Given the description of an element on the screen output the (x, y) to click on. 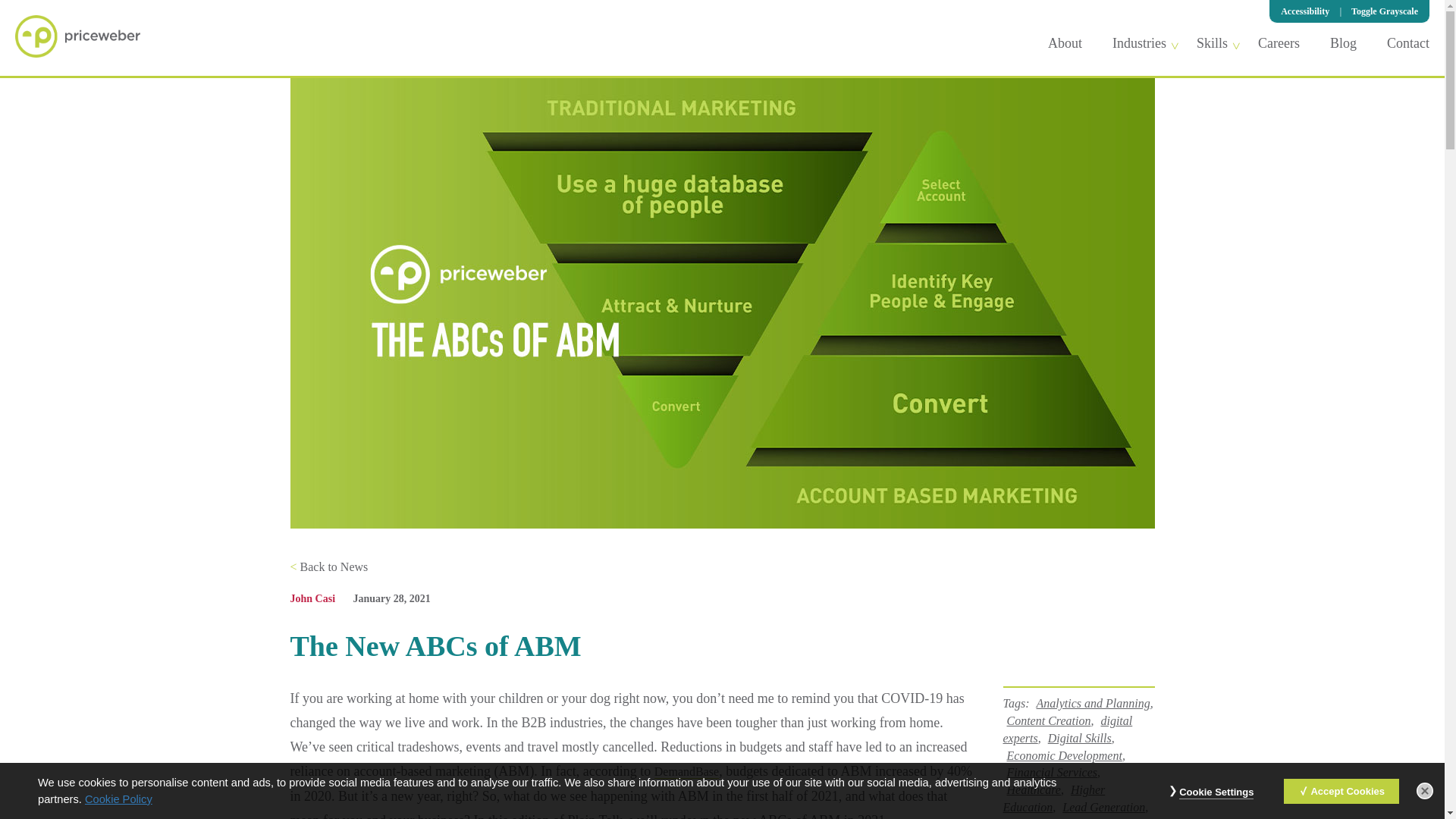
Toggle Grayscale (1384, 10)
Accessibility (1305, 10)
Blog (1343, 43)
Cookie Settings (1216, 792)
Cookie Policy (118, 799)
Careers (1278, 43)
Accept Cookies (1341, 790)
Cookie Settings (1216, 792)
Contact (1408, 43)
Accept Cookies (1341, 790)
About (1064, 43)
Close (1424, 790)
